Given the description of an element on the screen output the (x, y) to click on. 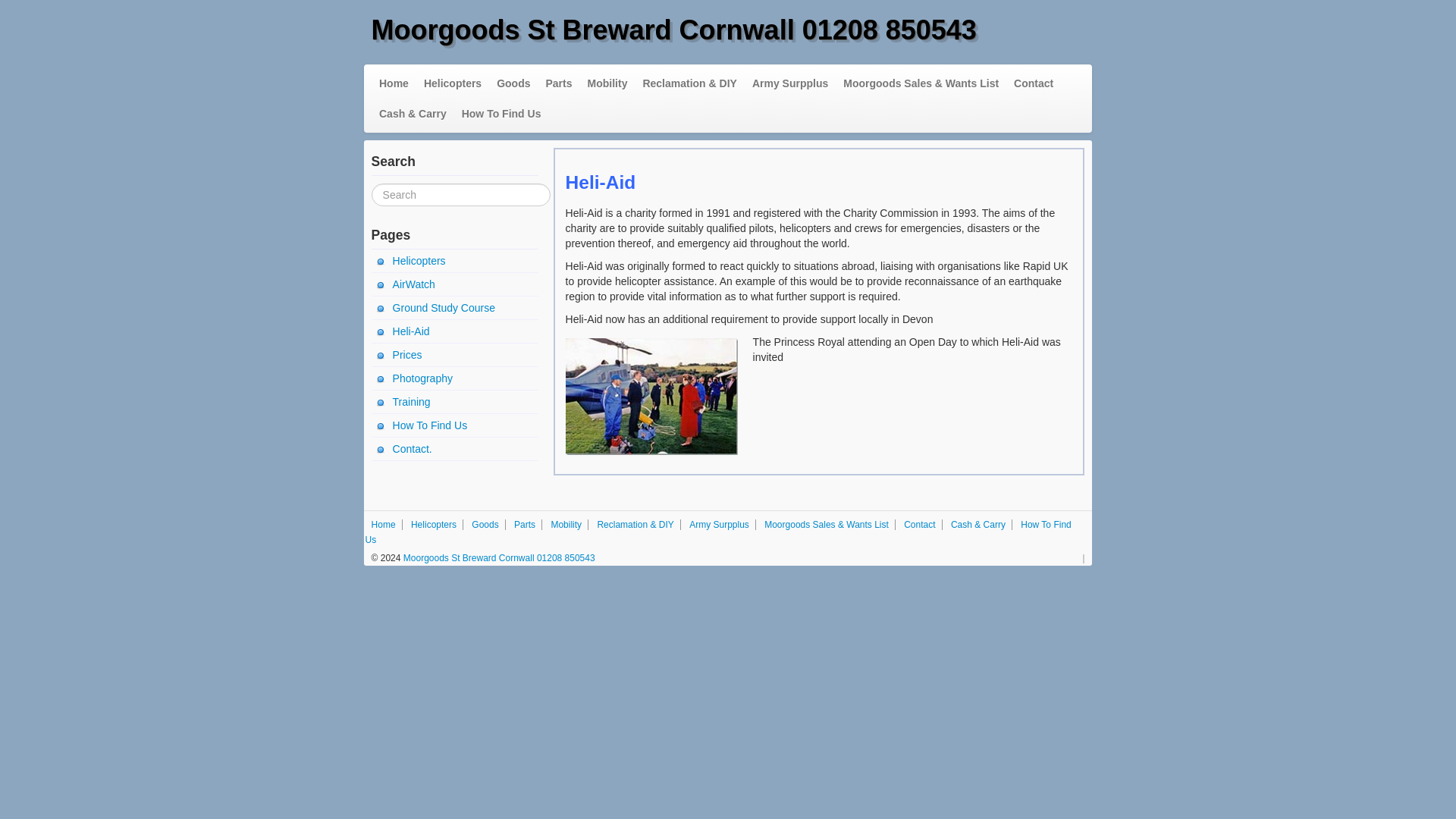
Parts (558, 82)
How To Find Us (501, 113)
Heli-Aid (454, 331)
Goods (513, 82)
Goods (484, 524)
Search (22, 9)
Moorgoods St Breward Cornwall 01208 850543 (497, 557)
Photography (454, 378)
Helicopters (454, 260)
Helicopters (452, 82)
